Given the description of an element on the screen output the (x, y) to click on. 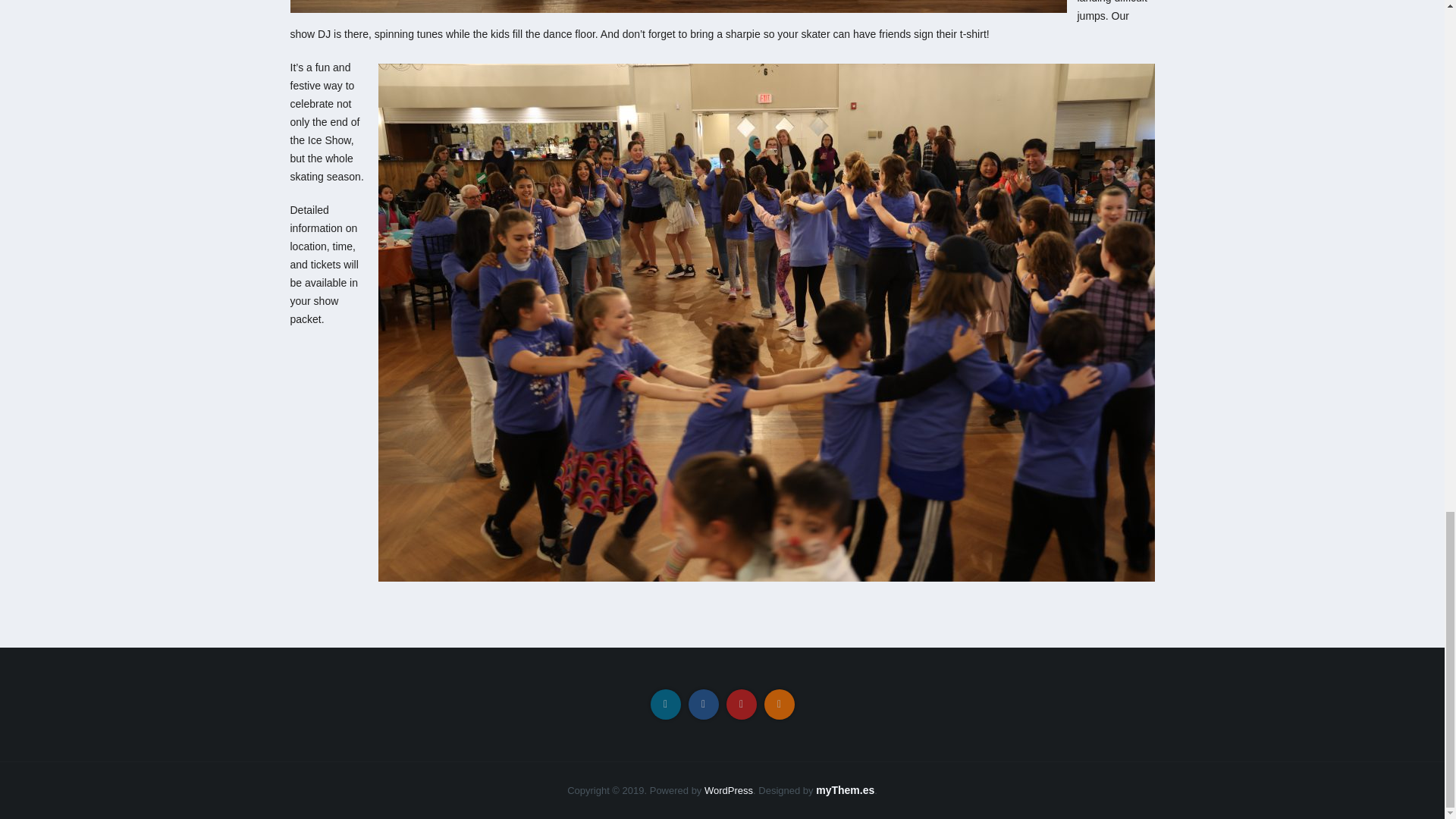
WordPress (728, 790)
myThem.es (845, 789)
myThem.es (845, 789)
